Given the description of an element on the screen output the (x, y) to click on. 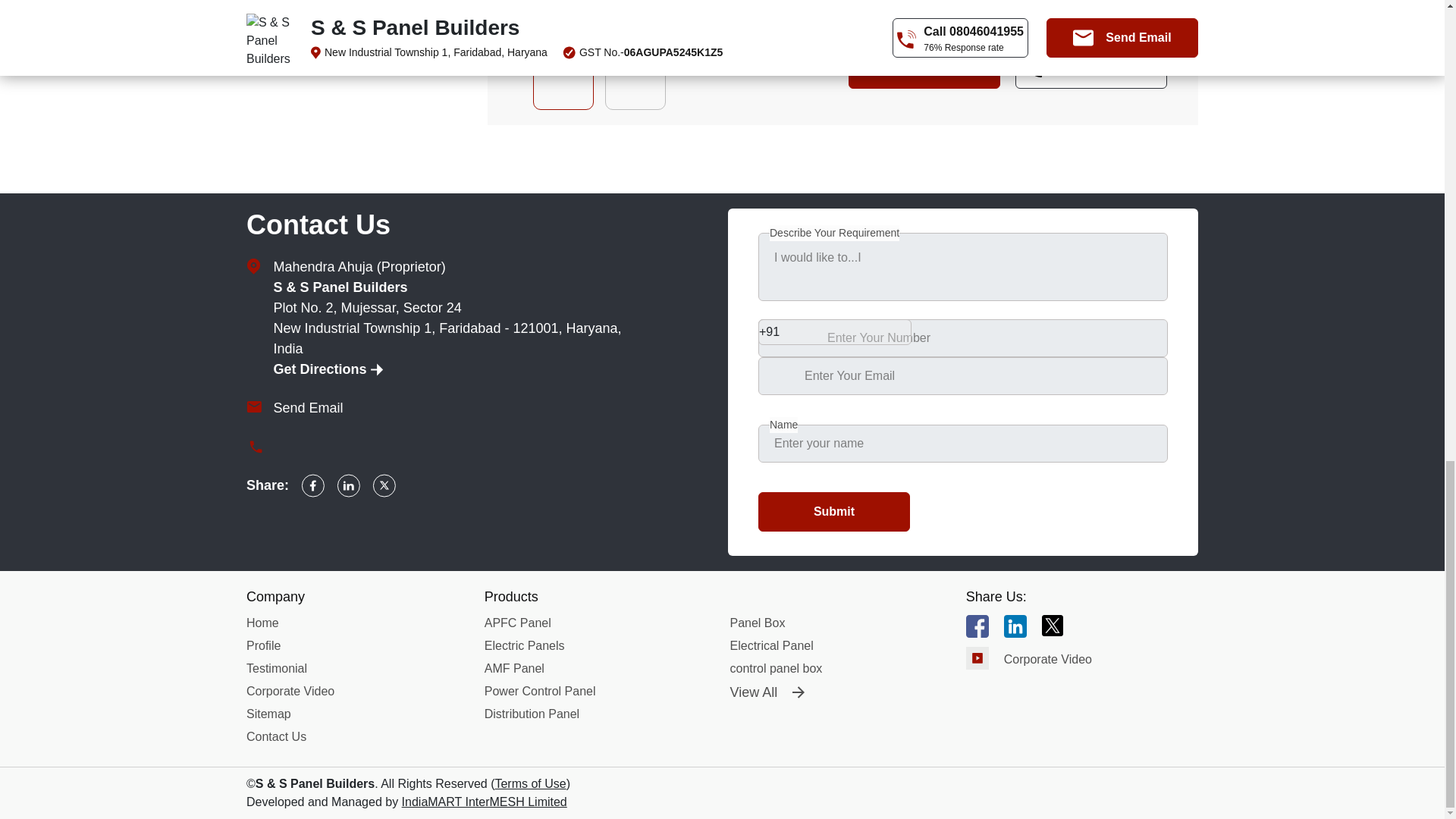
Submit (834, 511)
